Given the description of an element on the screen output the (x, y) to click on. 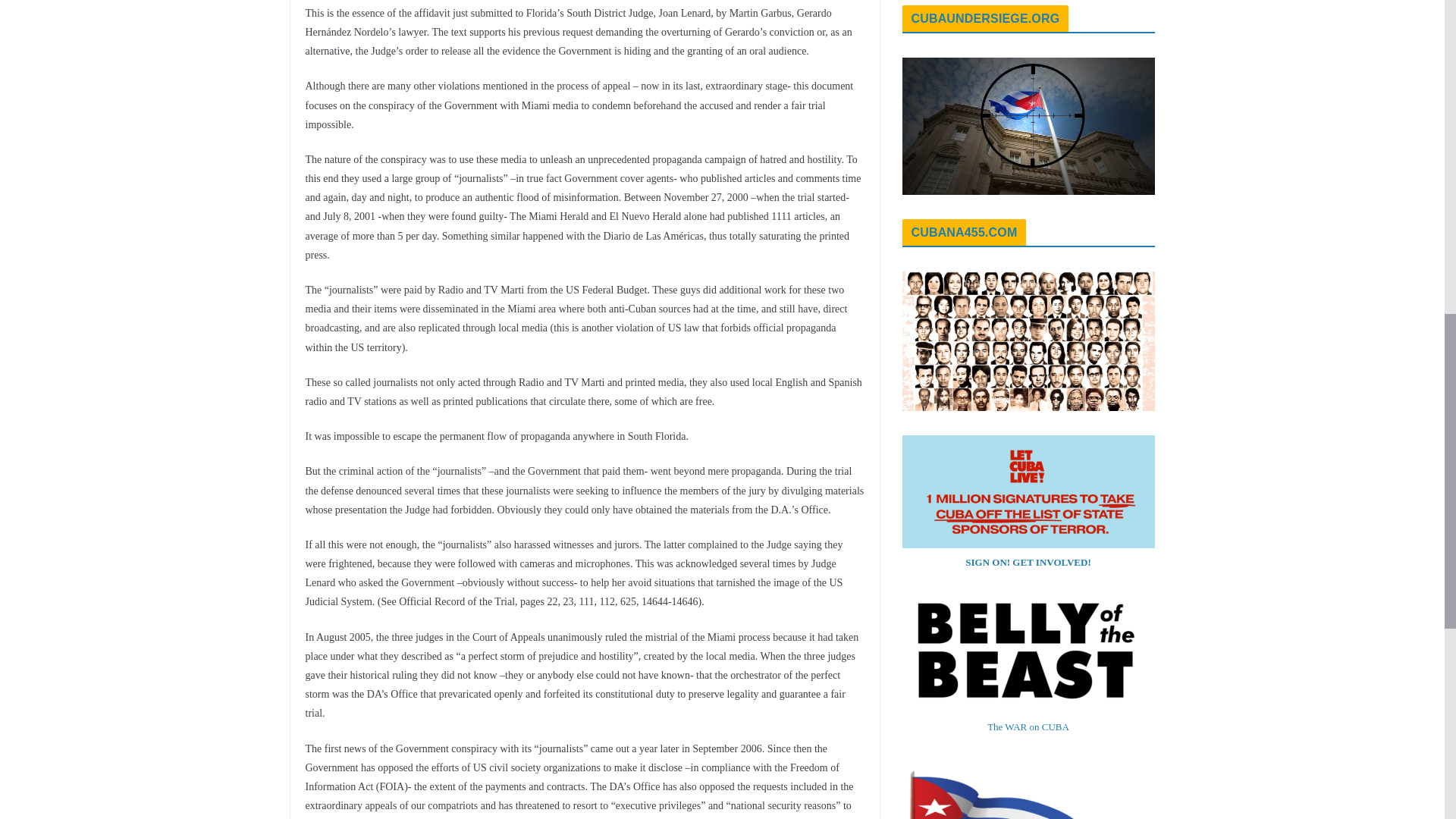
CUBANA455.COM (964, 232)
The WAR on CUBA (1027, 726)
CUBAUNDERSIEGE.ORG (985, 18)
SIGN ON! GET INVOLVED! (1027, 562)
